Given the description of an element on the screen output the (x, y) to click on. 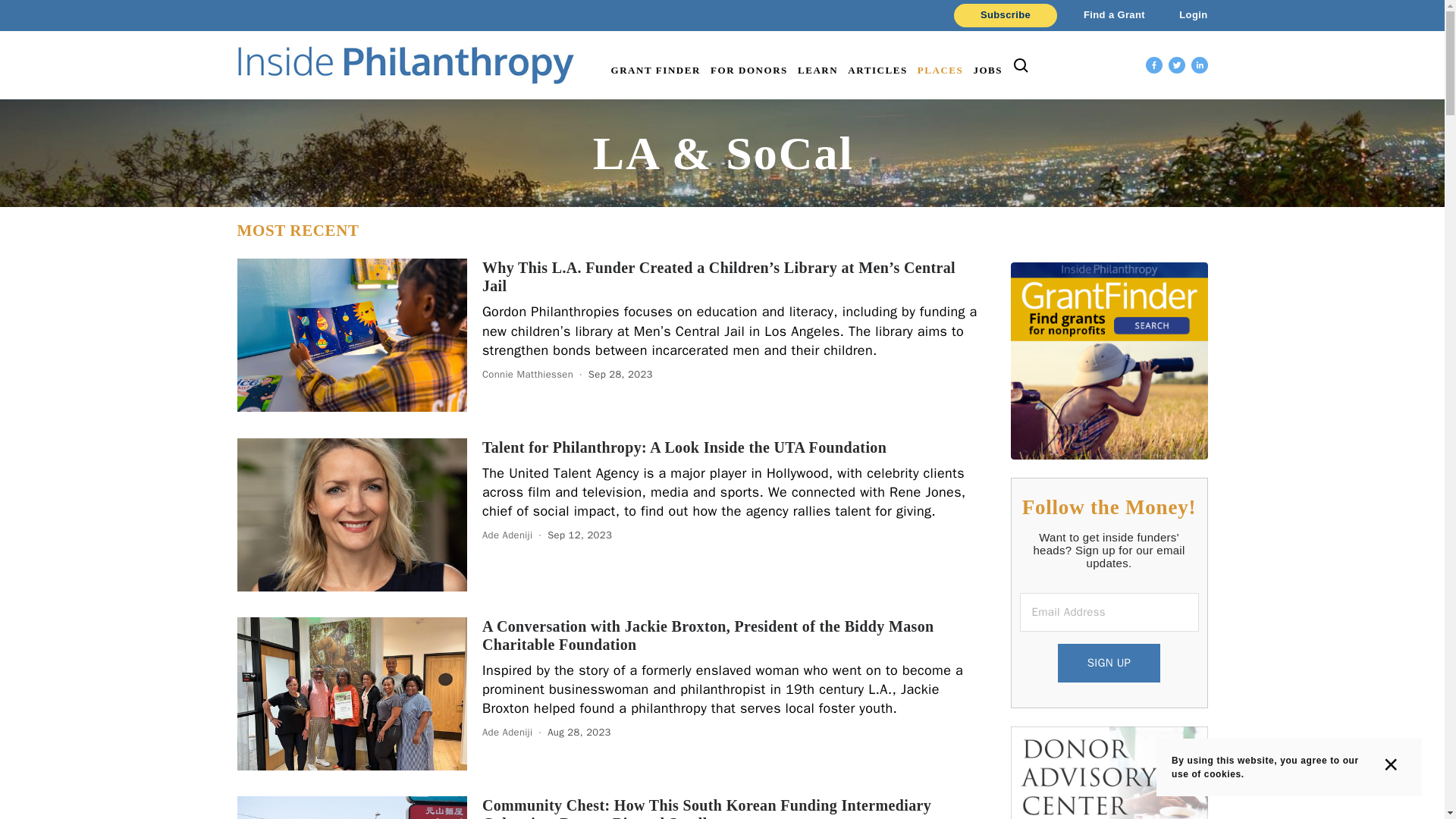
Subscribe (1005, 15)
LEARN (817, 69)
Login (1180, 15)
FOR DONORS (748, 69)
Find a Grant (1105, 15)
GRANT FINDER (655, 69)
ARTICLES (877, 69)
